Given the description of an element on the screen output the (x, y) to click on. 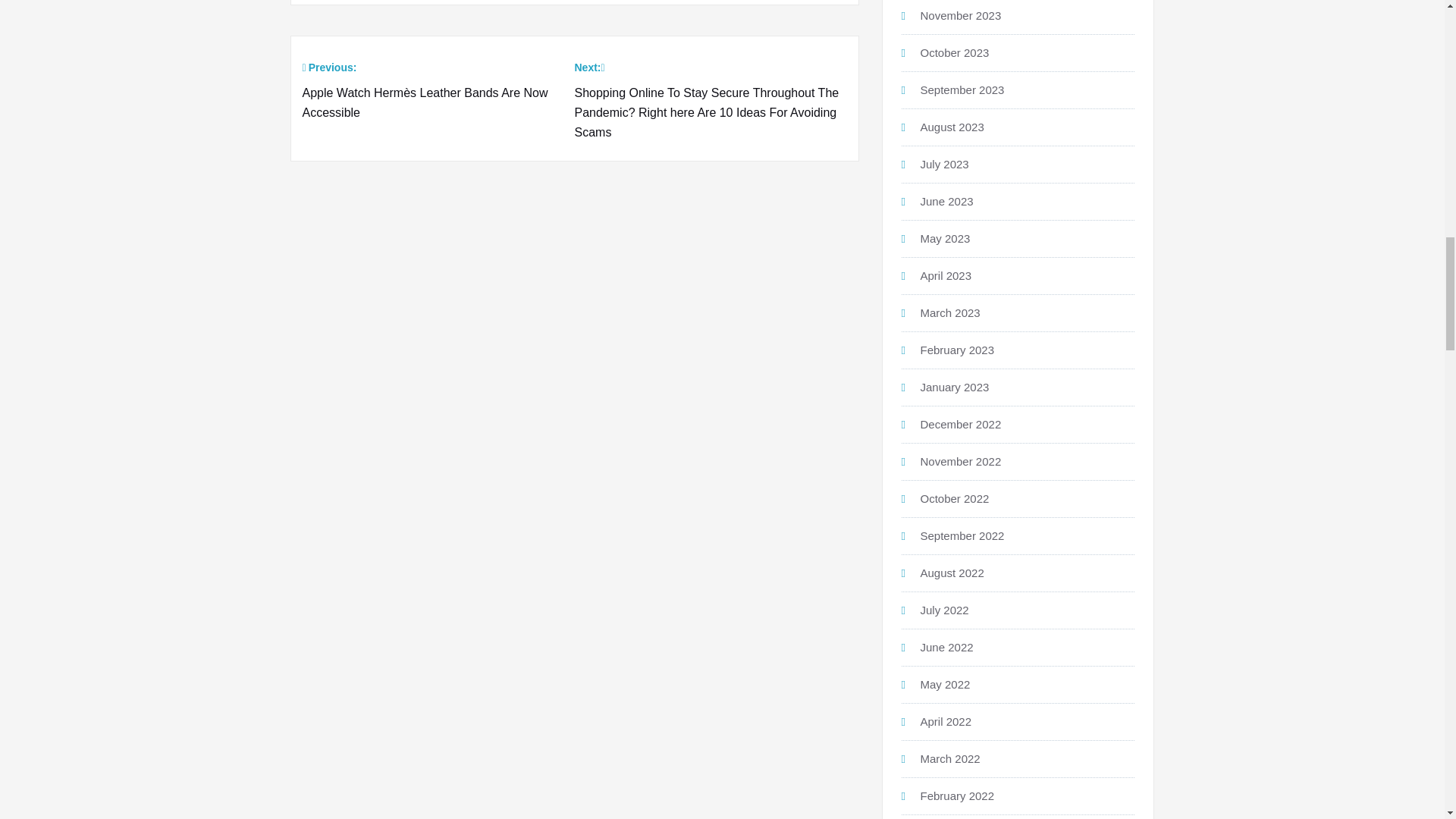
October 2023 (955, 51)
July 2023 (944, 164)
December 2022 (960, 423)
February 2023 (957, 349)
June 2023 (947, 201)
January 2023 (955, 386)
August 2023 (952, 126)
May 2023 (945, 237)
March 2023 (949, 312)
November 2023 (960, 15)
April 2023 (946, 275)
September 2023 (962, 89)
